Given the description of an element on the screen output the (x, y) to click on. 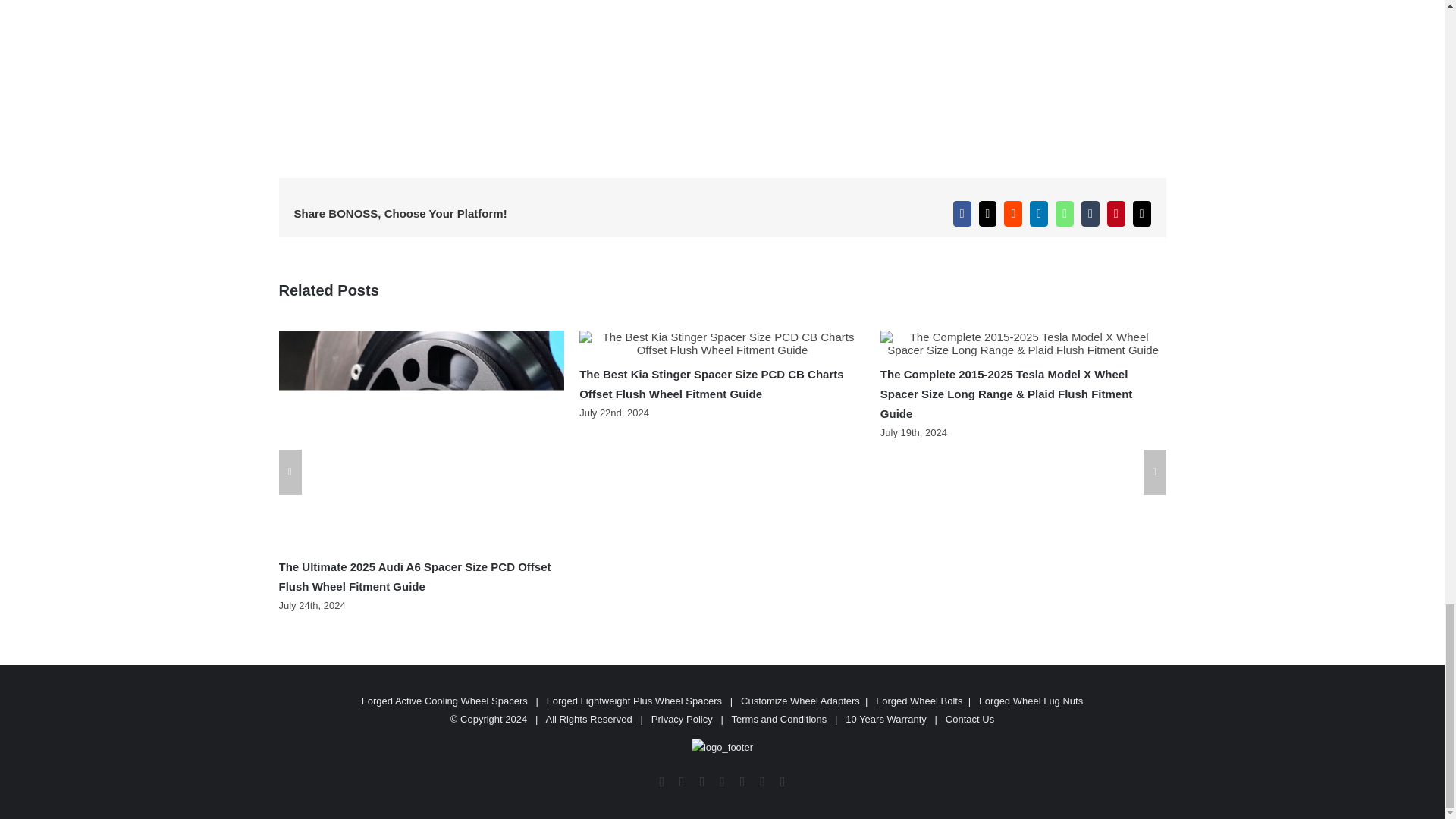
Facebook (962, 213)
Reddit (1013, 213)
LinkedIn (1038, 213)
WhatsApp (1064, 213)
X (987, 213)
